Given the description of an element on the screen output the (x, y) to click on. 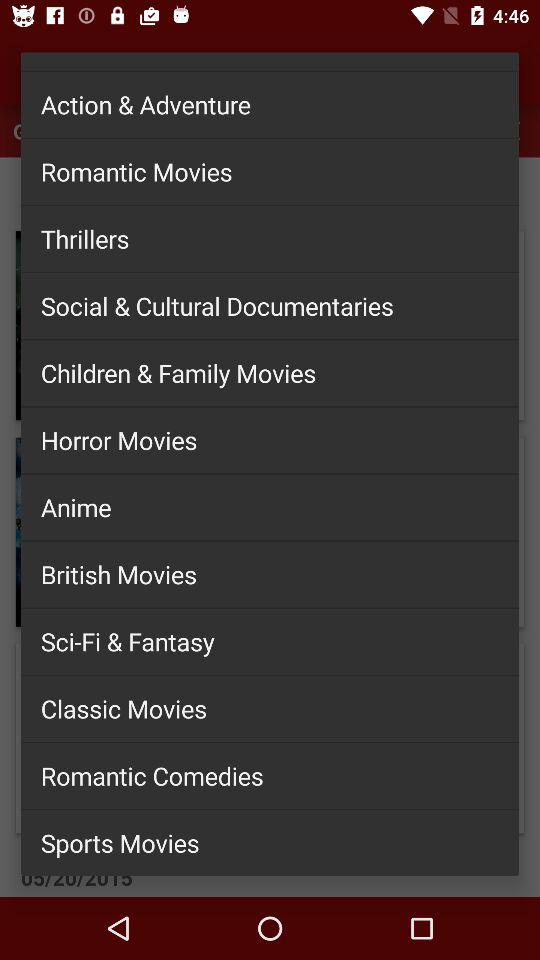
select the item below    british movies item (269, 641)
